Given the description of an element on the screen output the (x, y) to click on. 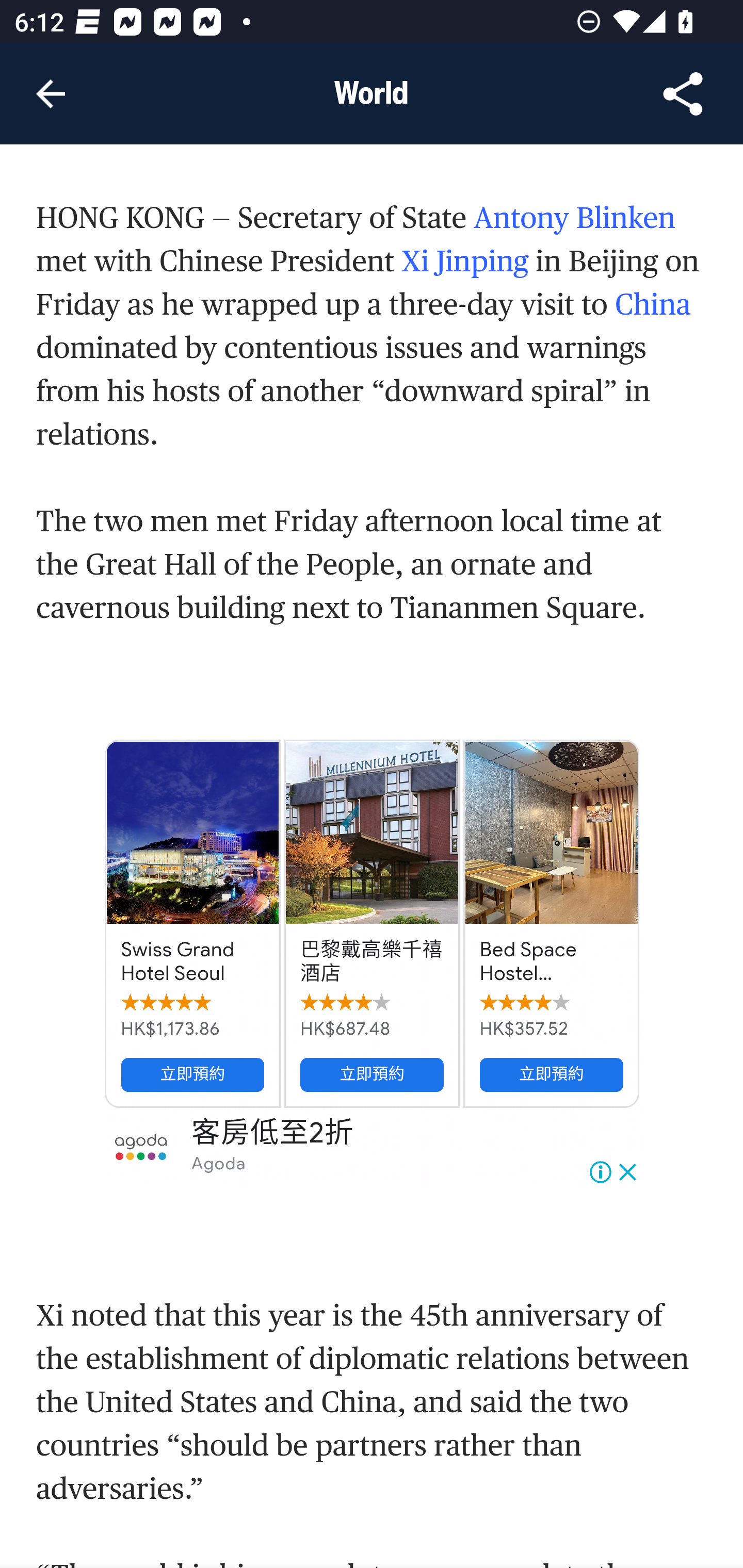
Navigate up (50, 93)
Share Article, button (683, 94)
Antony Blinken (574, 220)
Xi Jinping (465, 264)
China (652, 306)
客房低至2折 Agoda 客房低至2折 Agoda (372, 1149)
